Given the description of an element on the screen output the (x, y) to click on. 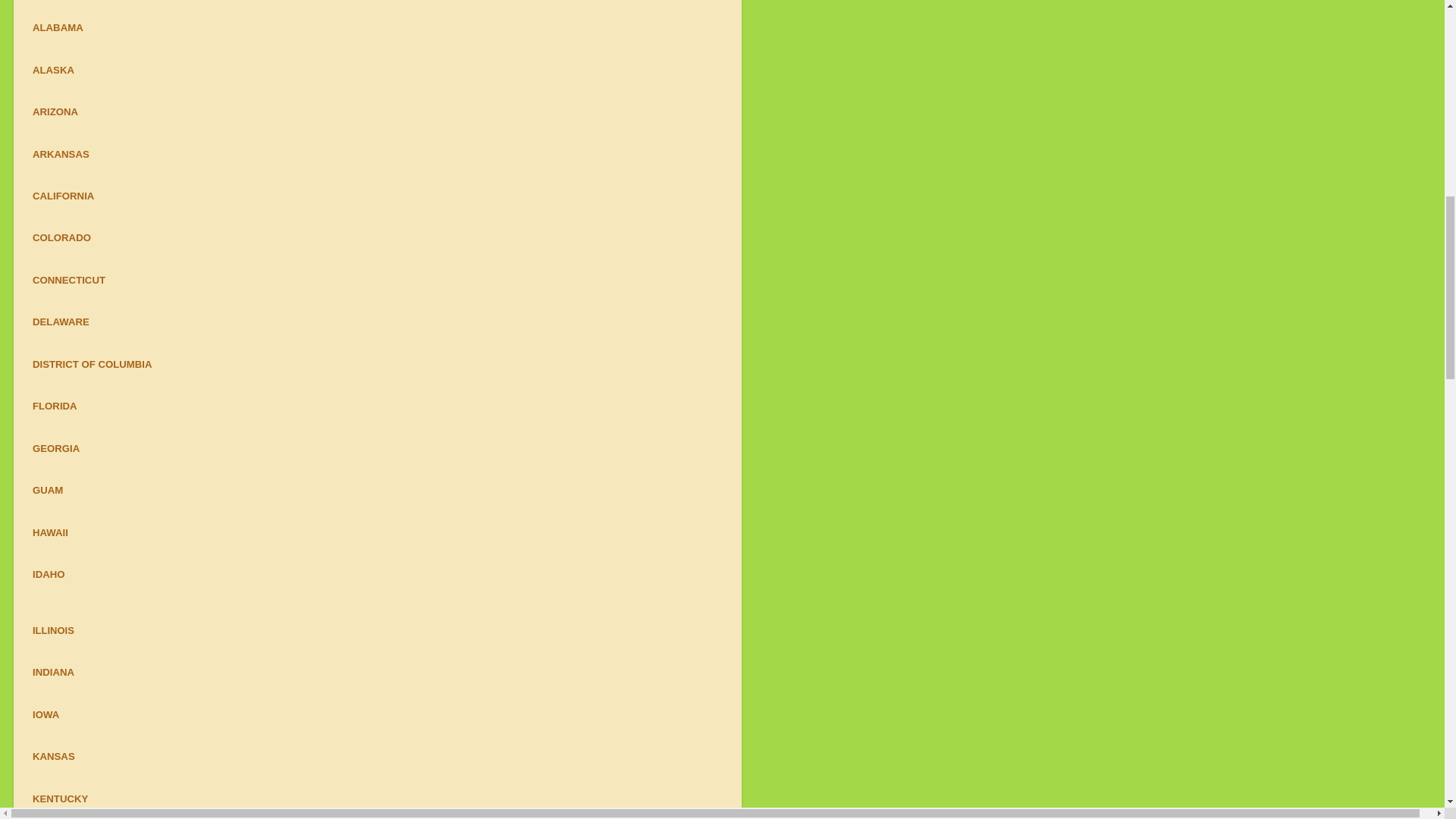
HAWAII (50, 532)
ARKANSAS (60, 153)
FLORIDA (54, 405)
ILLINOIS (53, 630)
DELAWARE (60, 321)
IOWA (45, 714)
ARIZONA (55, 111)
ALABAMA (57, 27)
INDIANA (53, 672)
KENTUCKY (59, 798)
KANSAS (53, 756)
DISTRICT OF COLUMBIA (92, 364)
CONNECTICUT (68, 279)
IDAHO (48, 573)
GEORGIA (56, 448)
